Given the description of an element on the screen output the (x, y) to click on. 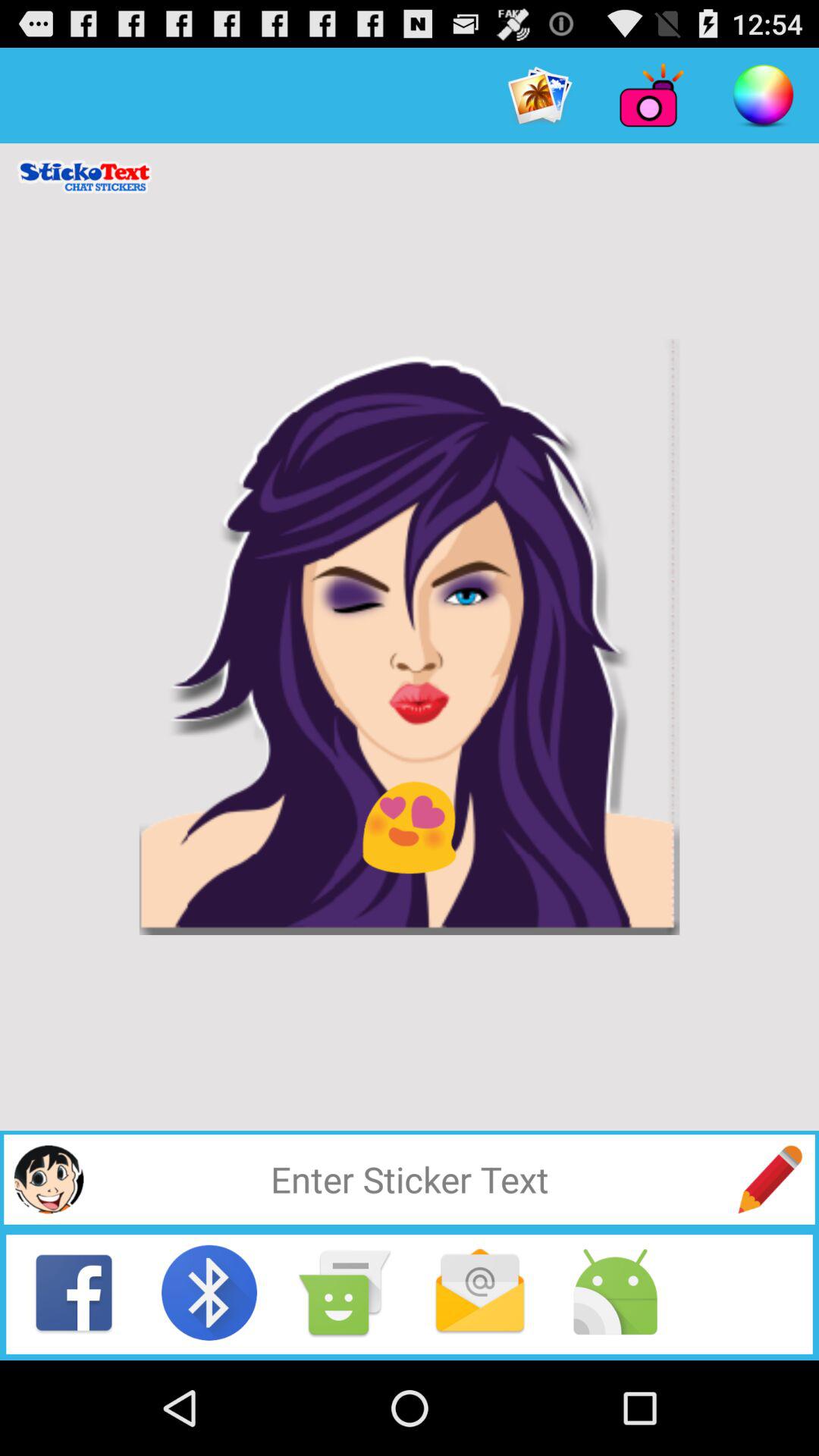
edit text (770, 1179)
